Given the description of an element on the screen output the (x, y) to click on. 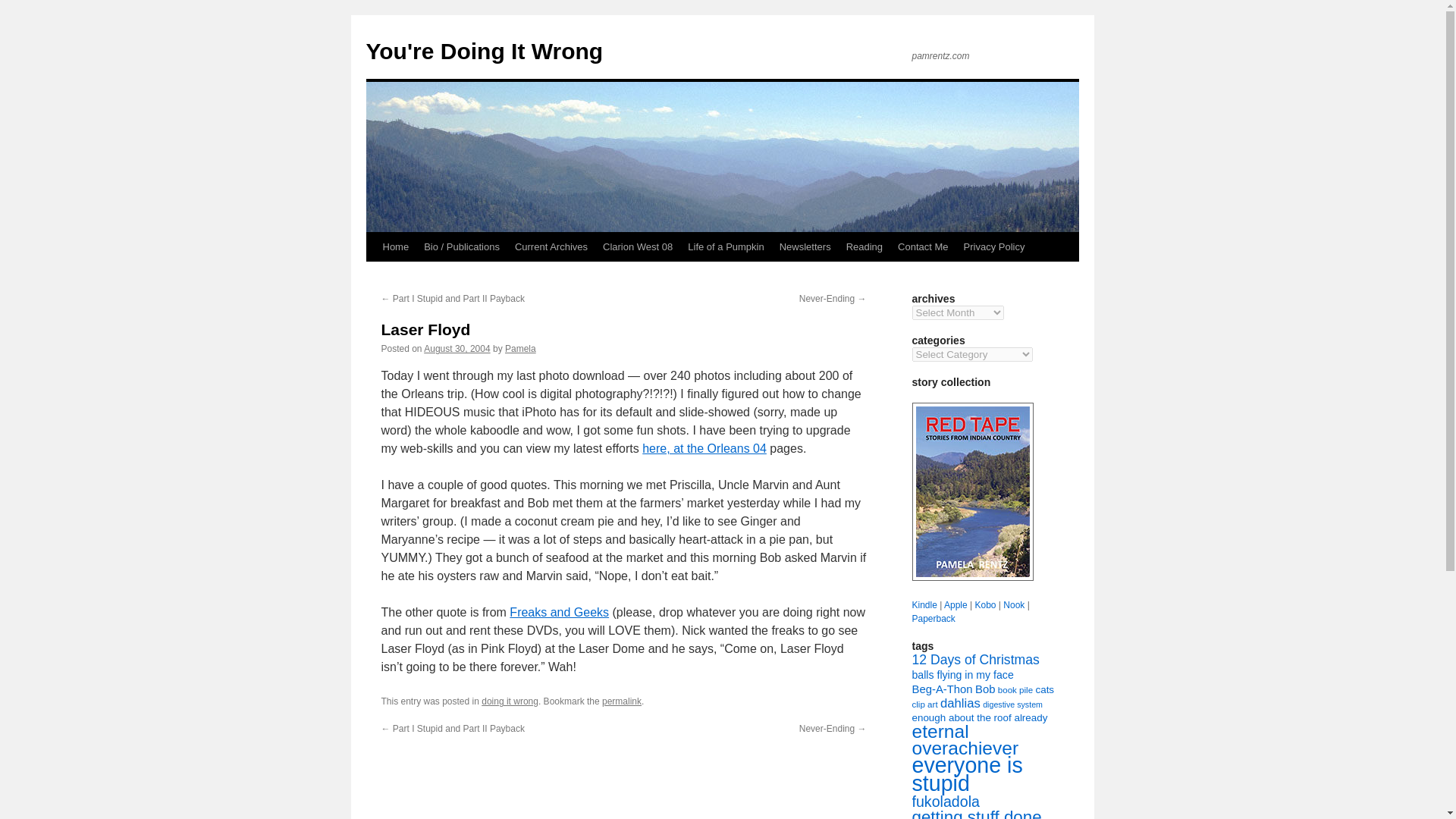
Home (395, 246)
Bob (984, 689)
Paperback (933, 618)
Life of a Pumpkin (725, 246)
permalink (622, 701)
Contact Me (922, 246)
Beg-A-Thon (941, 689)
12:06 am (456, 348)
fukoladola (944, 801)
Privacy Policy (994, 246)
Reading (863, 246)
12 Days of Christmas (975, 659)
digestive system (1012, 704)
August 30, 2004 (456, 348)
Apple (955, 604)
